Given the description of an element on the screen output the (x, y) to click on. 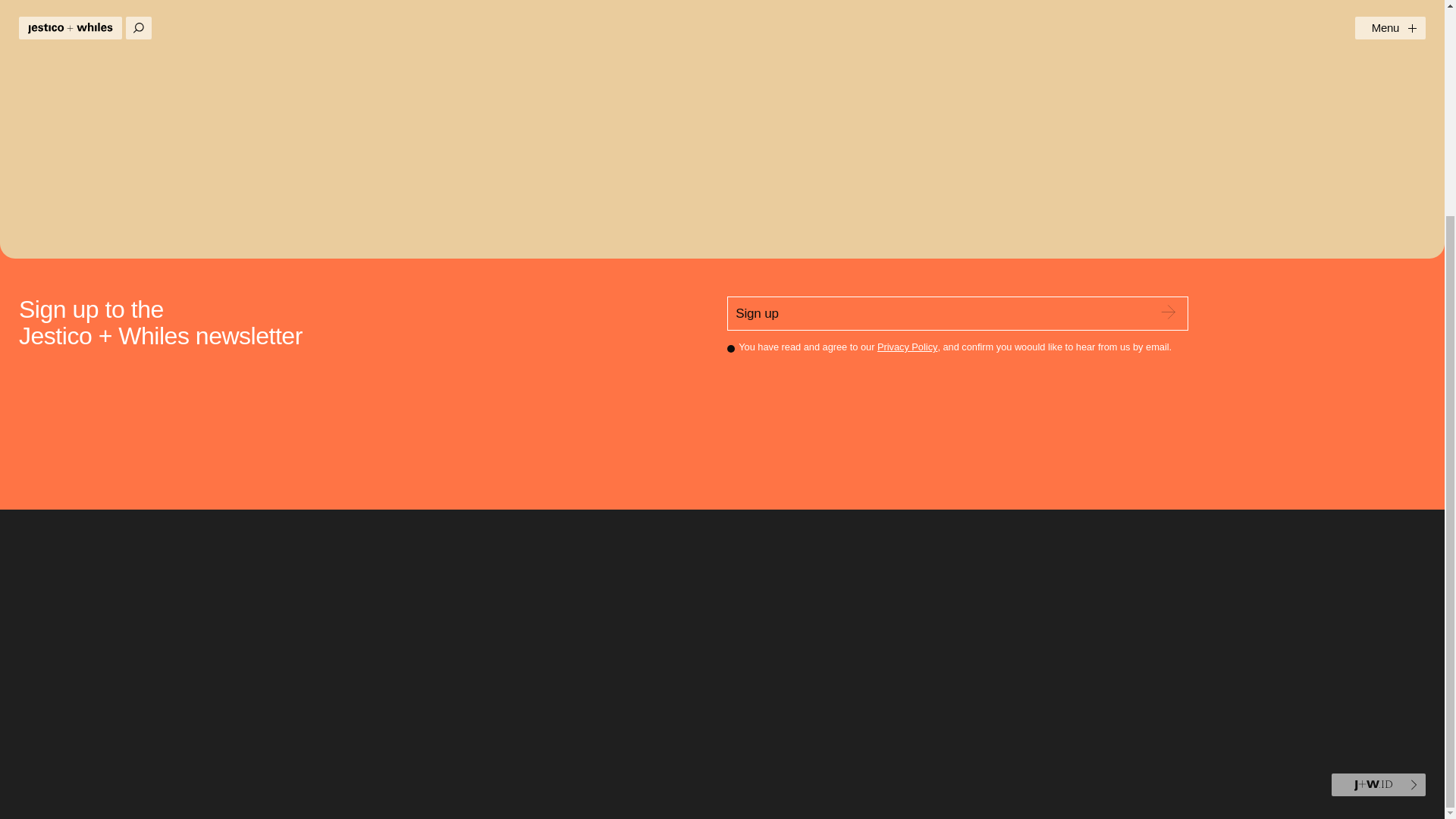
Privacy Policy (907, 347)
Submit (1168, 312)
